Given the description of an element on the screen output the (x, y) to click on. 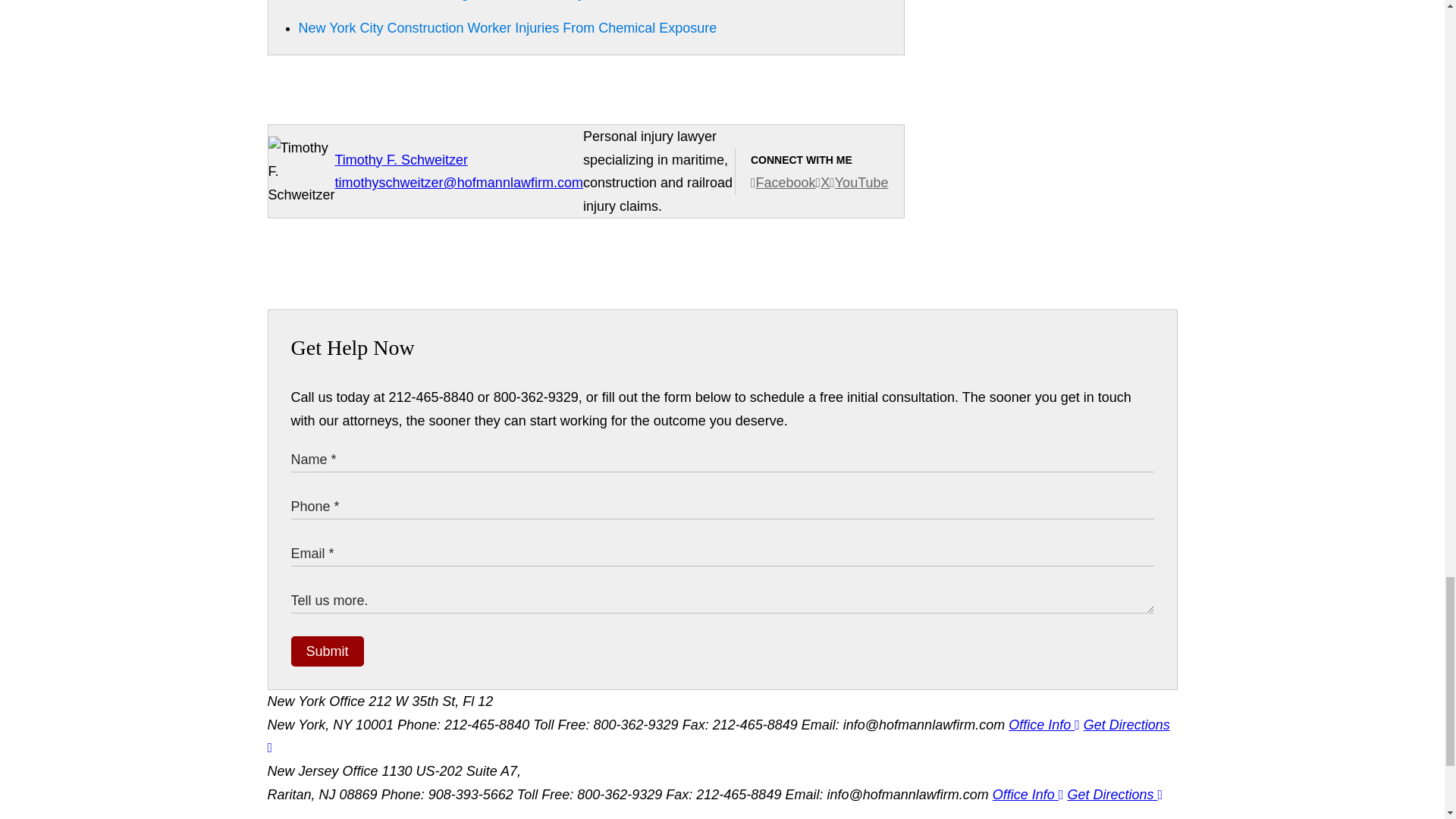
Watch me on YouTube (858, 182)
Follow me on X (822, 182)
Timothy F. Schweitzer (400, 159)
Find me on Facebook (783, 182)
